Given the description of an element on the screen output the (x, y) to click on. 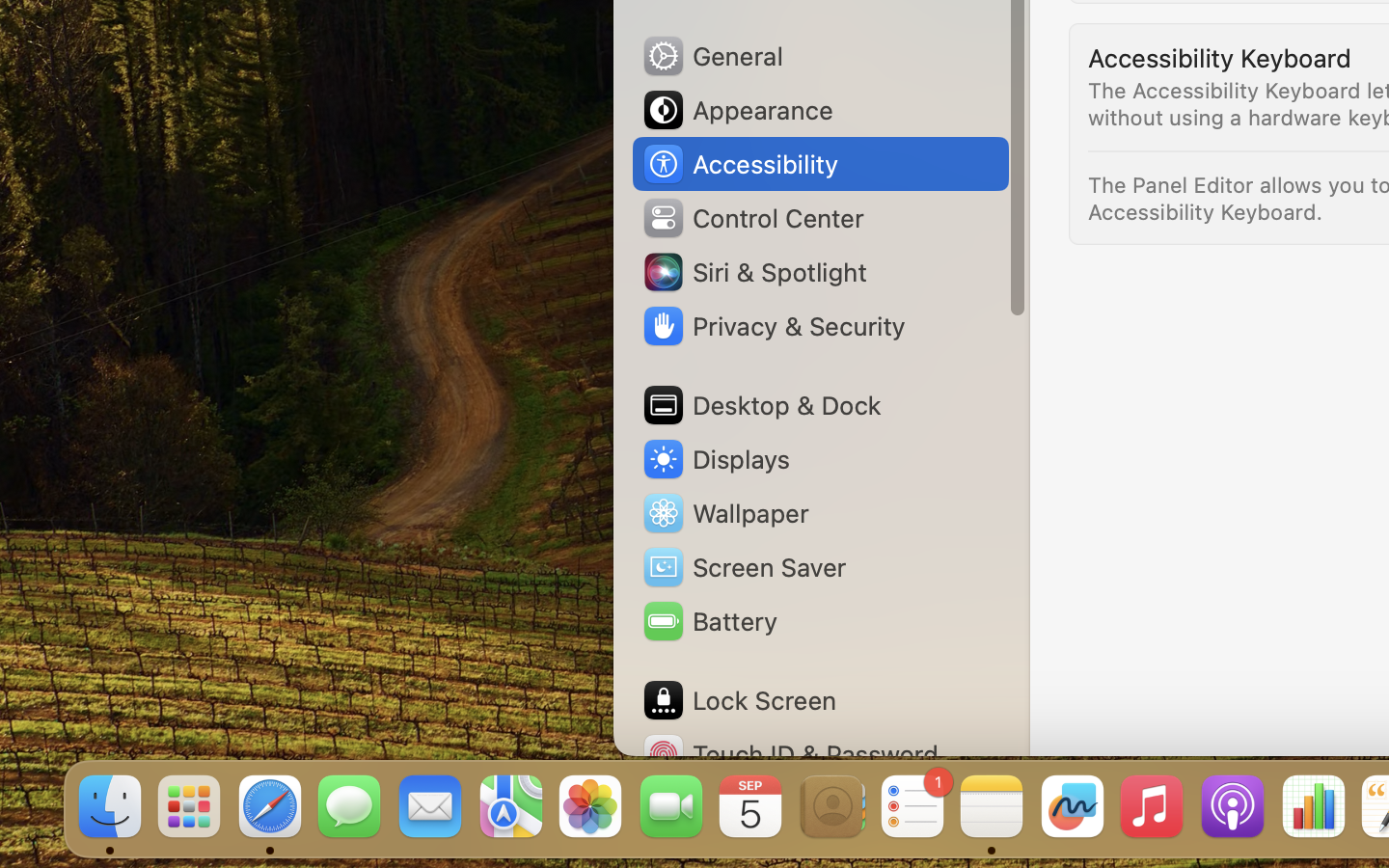
Appearance Element type: AXStaticText (736, 109)
Touch ID & Password Element type: AXStaticText (789, 754)
Privacy & Security Element type: AXStaticText (772, 325)
Wallpaper Element type: AXStaticText (724, 512)
General Element type: AXStaticText (711, 55)
